Given the description of an element on the screen output the (x, y) to click on. 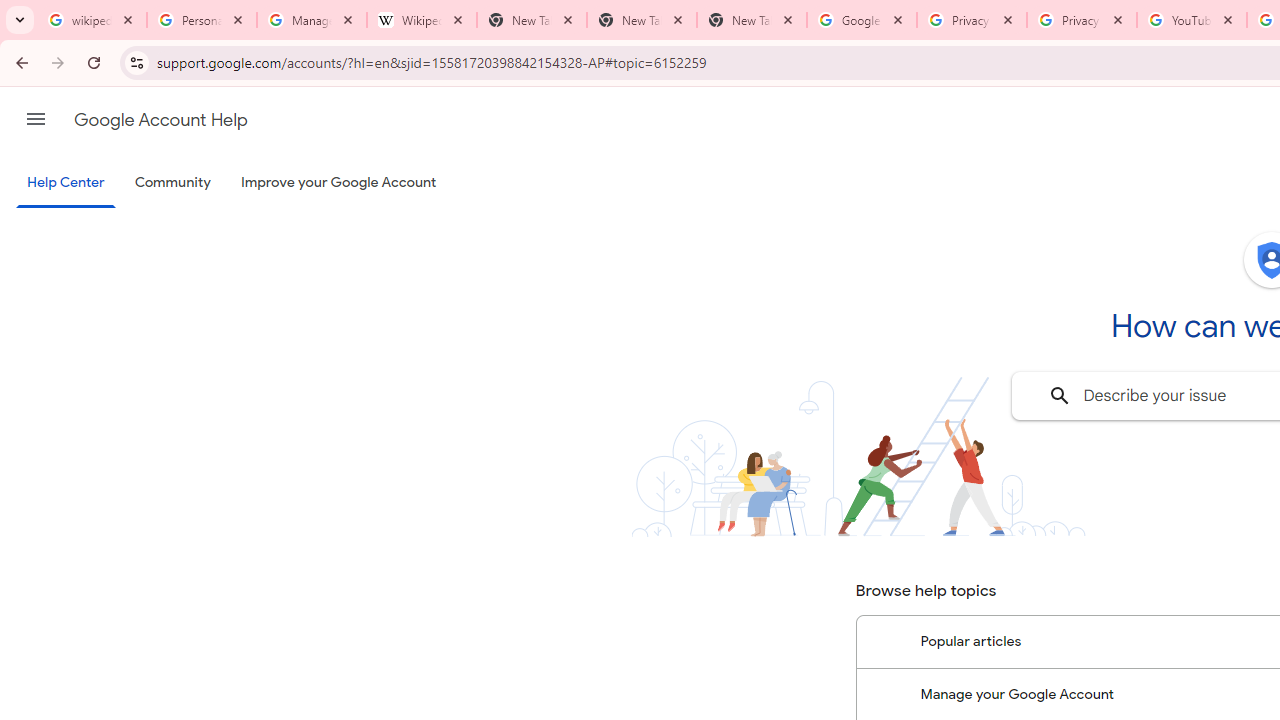
Personalization & Google Search results - Google Search Help (202, 20)
New Tab (752, 20)
Community (171, 183)
Improve your Google Account (339, 183)
Help Center (65, 183)
Google Drive: Sign-in (861, 20)
